Given the description of an element on the screen output the (x, y) to click on. 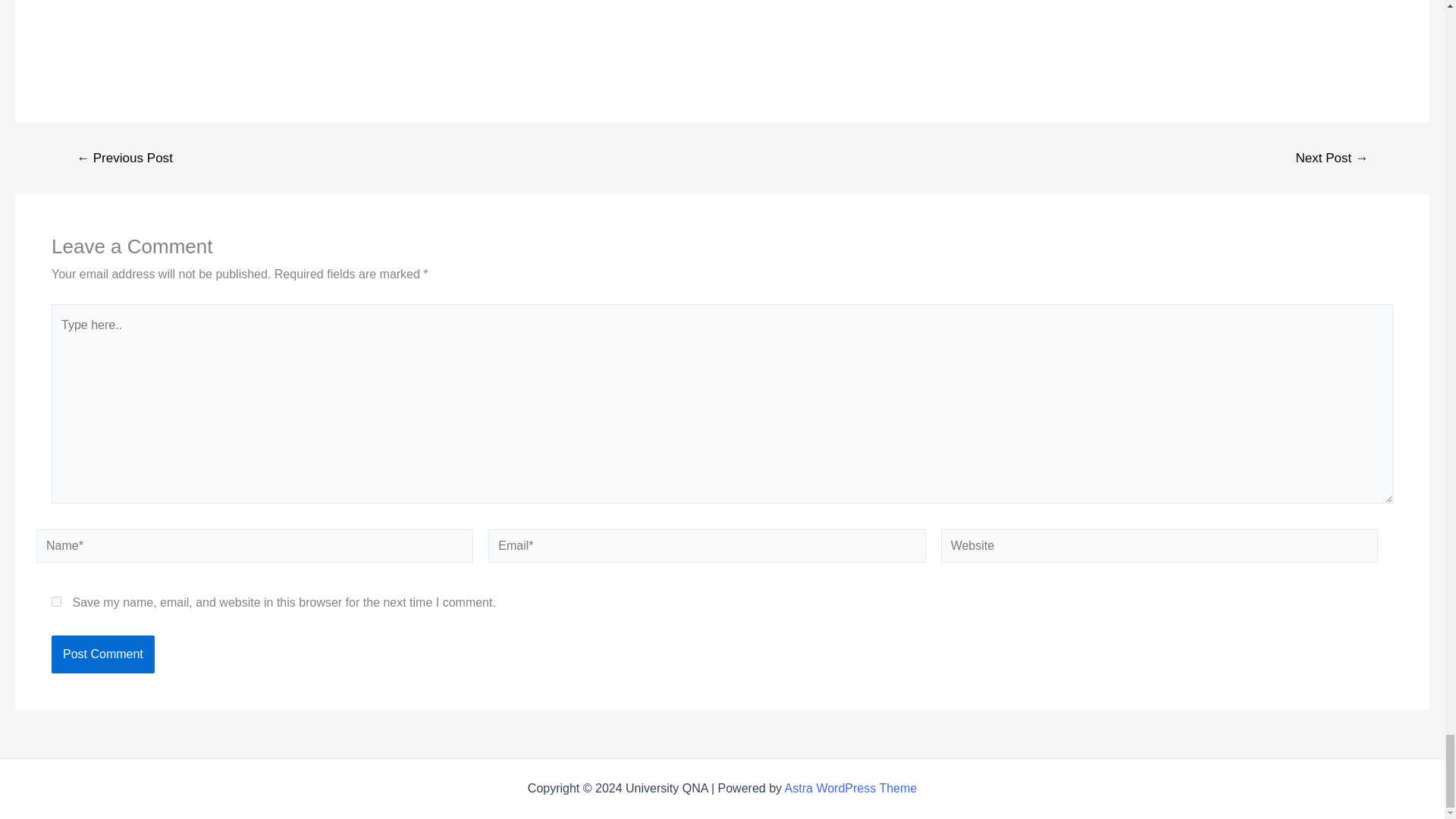
Astra WordPress Theme (850, 788)
Post Comment (102, 654)
Post Comment (102, 654)
yes (55, 601)
